Given the description of an element on the screen output the (x, y) to click on. 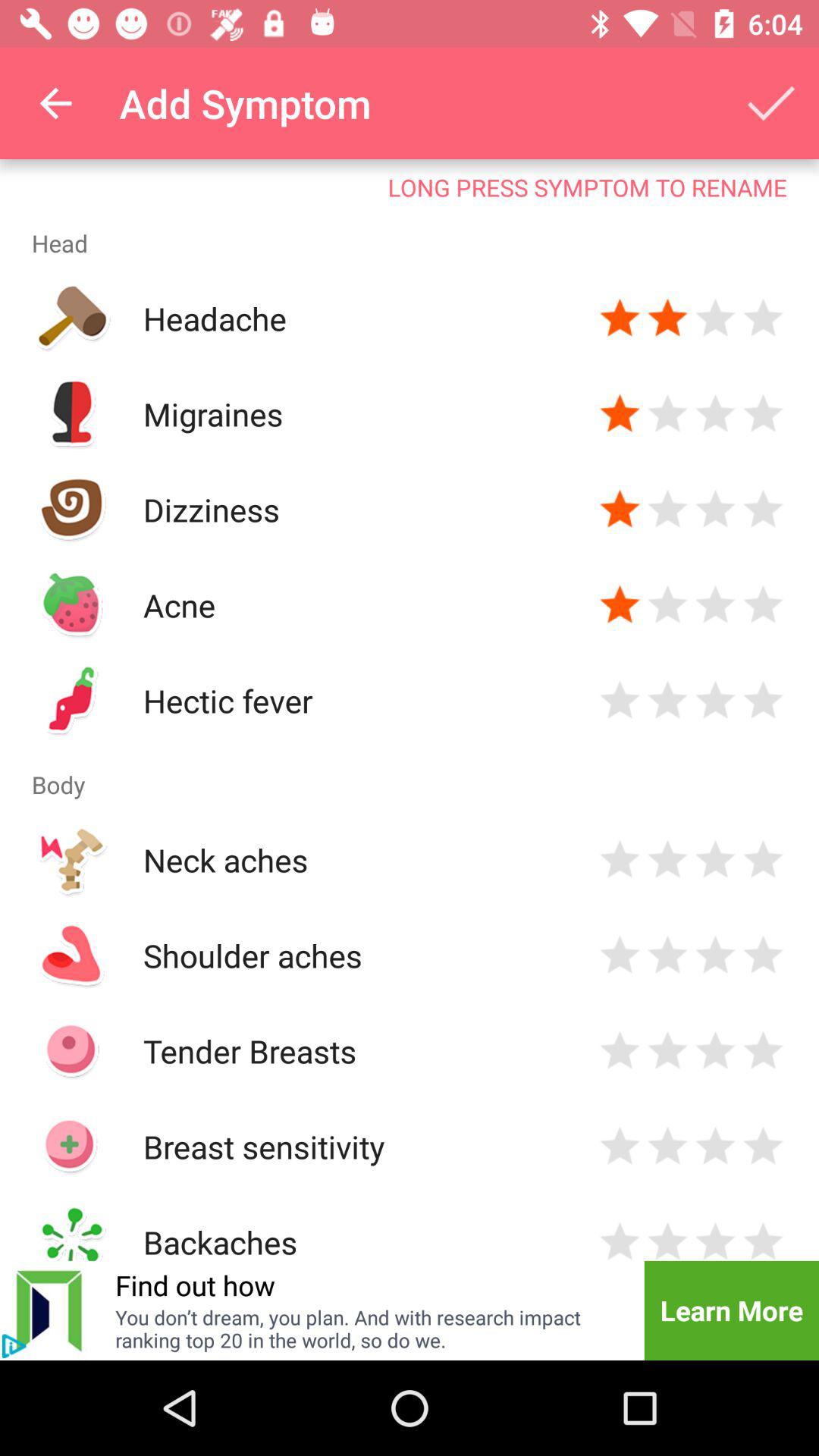
rate item 1 star (619, 859)
